Given the description of an element on the screen output the (x, y) to click on. 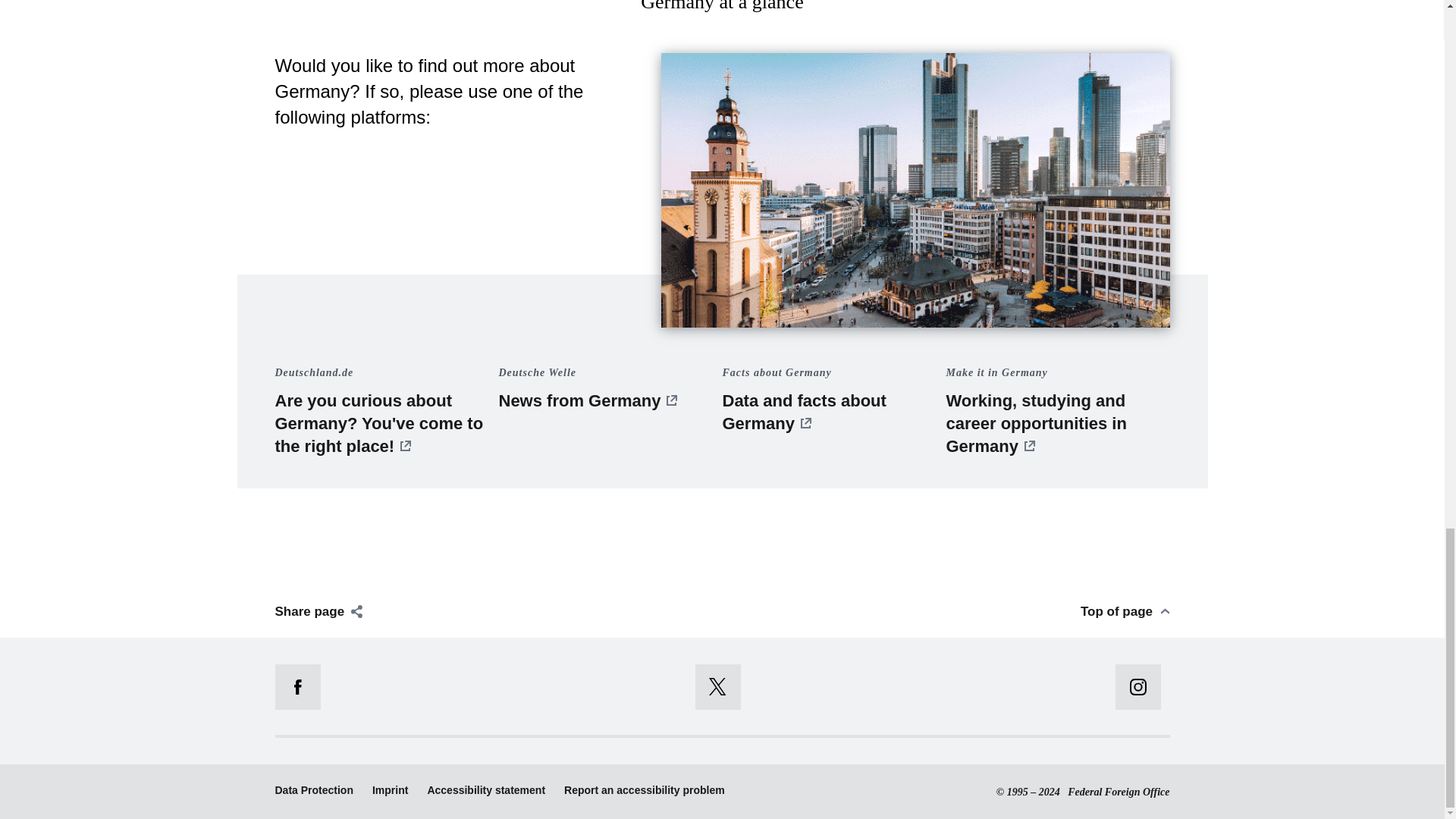
Top of page (1125, 611)
